Given the description of an element on the screen output the (x, y) to click on. 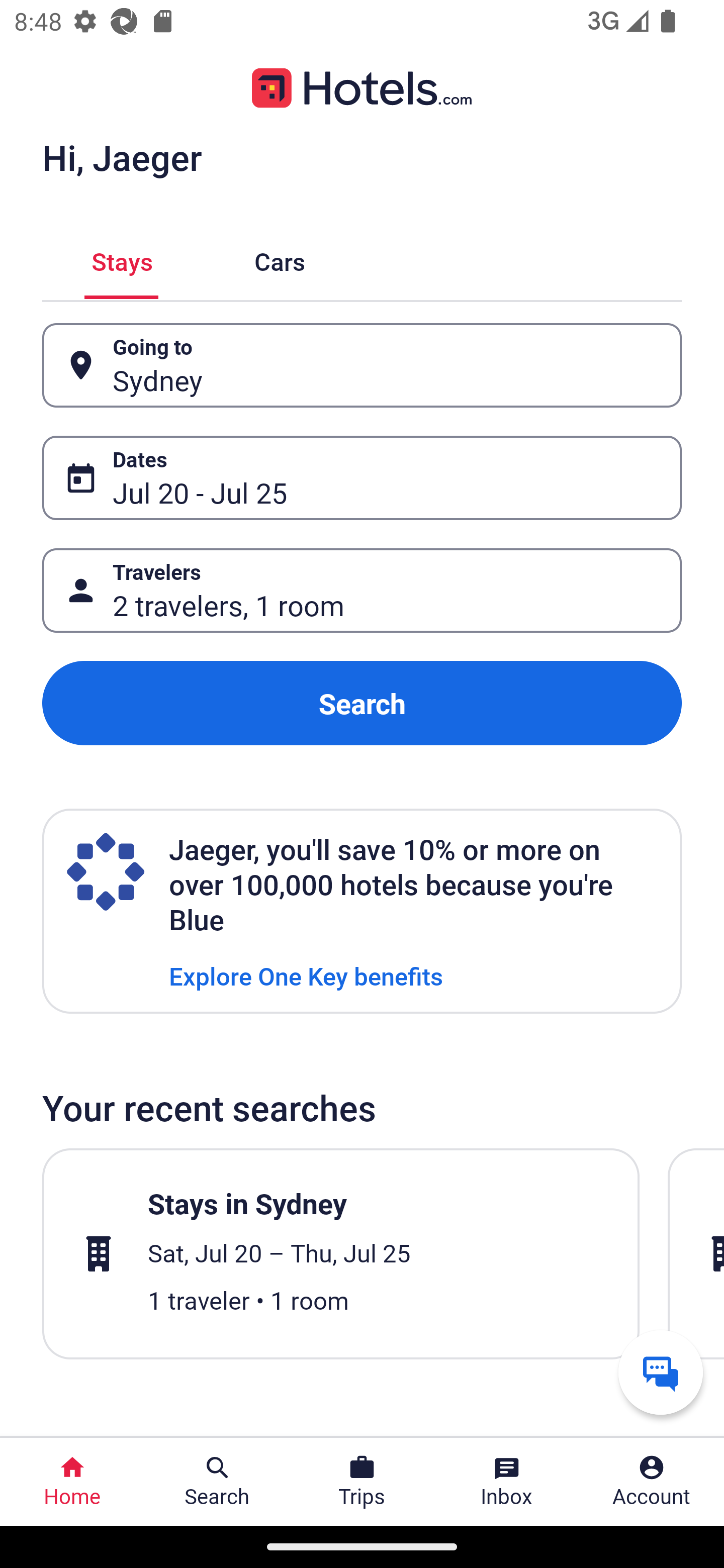
Hi, Jaeger (121, 156)
Cars (279, 259)
Going to Button Sydney (361, 365)
Dates Button Jul 20 - Jul 25 (361, 477)
Travelers Button 2 travelers, 1 room (361, 590)
Search (361, 702)
Get help from a virtual agent (660, 1371)
Search Search Button (216, 1481)
Trips Trips Button (361, 1481)
Inbox Inbox Button (506, 1481)
Account Profile. Button (651, 1481)
